Given the description of an element on the screen output the (x, y) to click on. 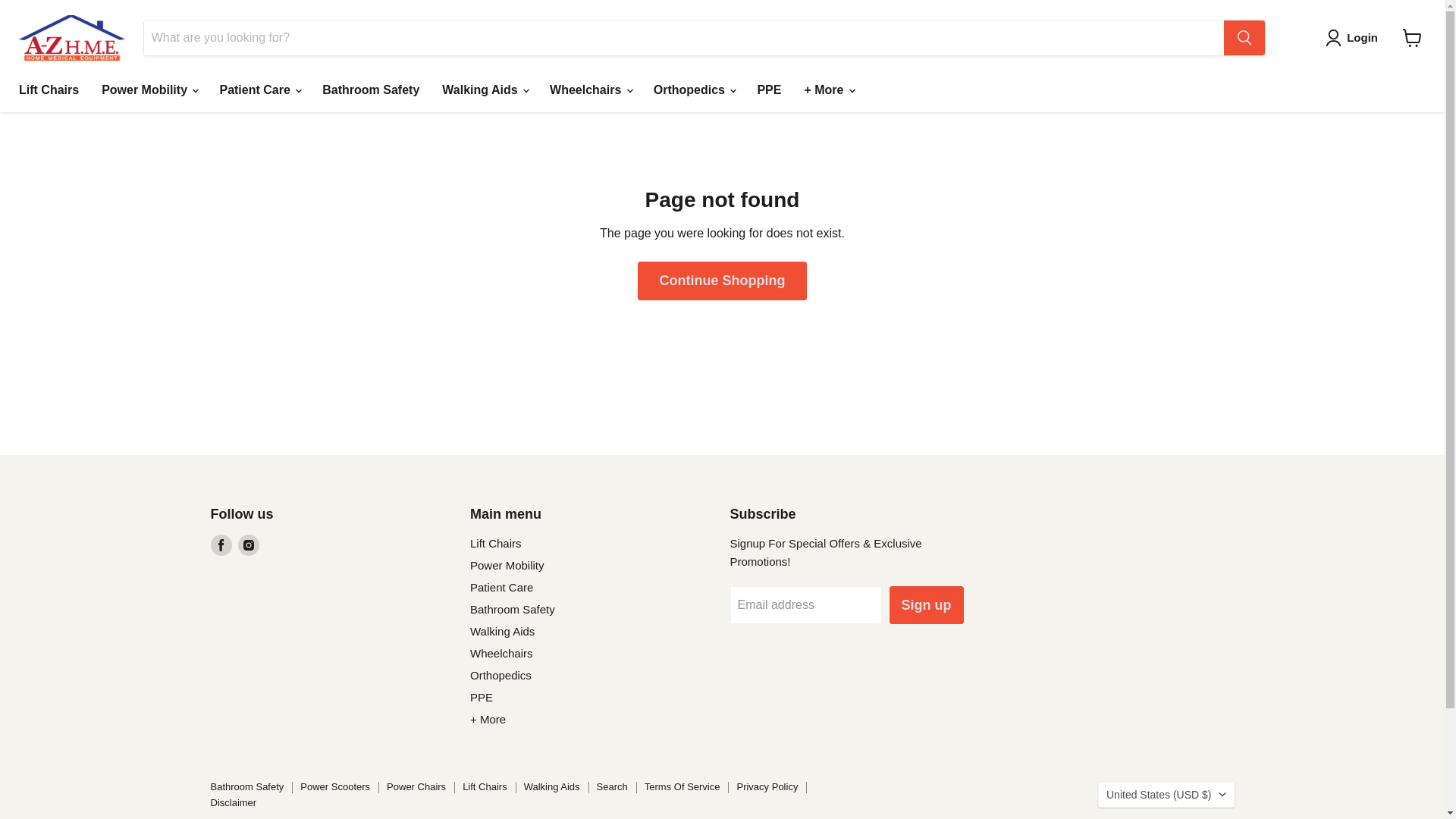
Bathroom Safety (370, 90)
Login (1362, 37)
Instagram (248, 545)
PPE (768, 90)
View cart (1411, 37)
Lift Chairs (48, 90)
Facebook (221, 545)
